Given the description of an element on the screen output the (x, y) to click on. 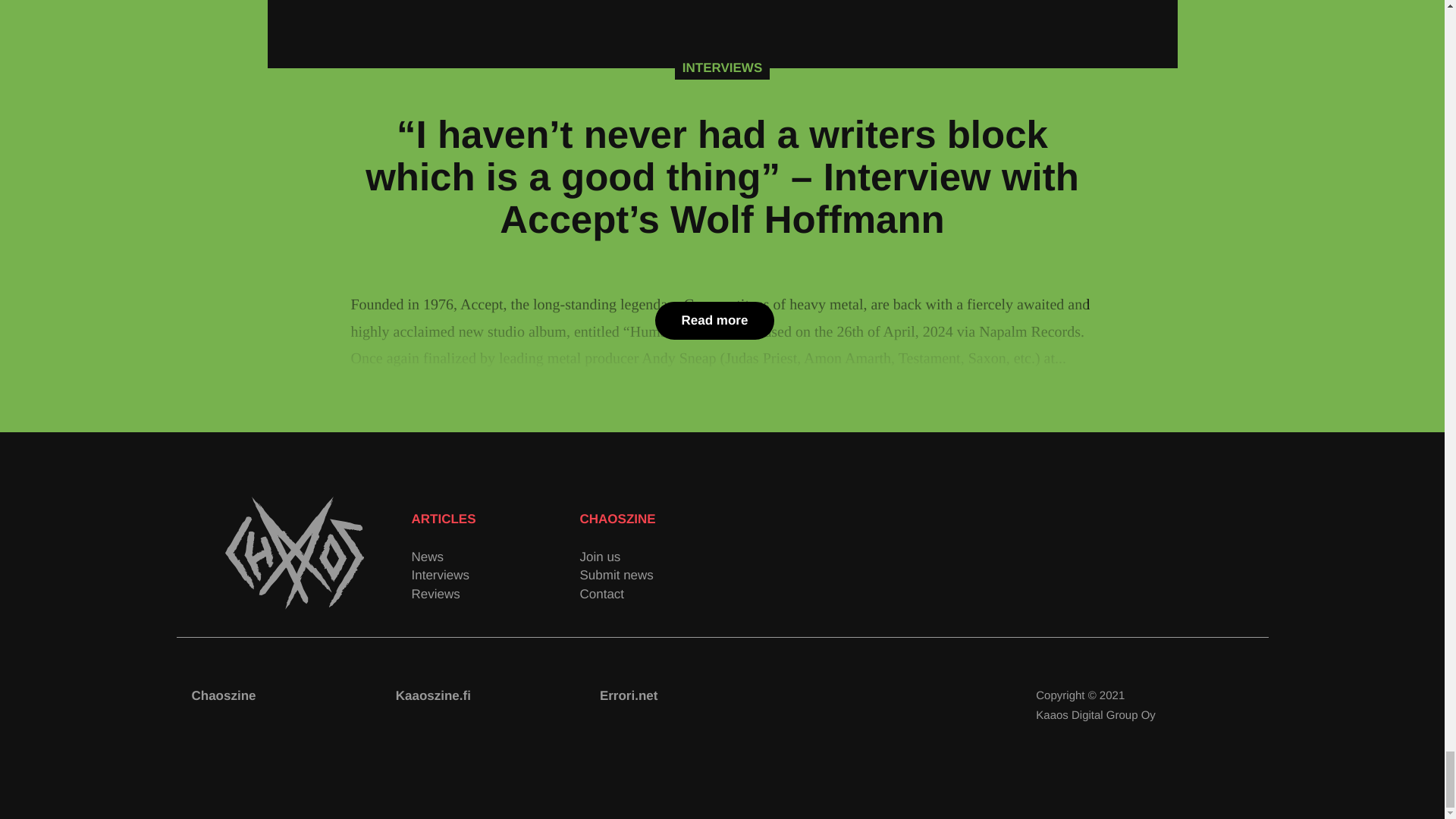
INTERVIEWS (722, 67)
